Given the description of an element on the screen output the (x, y) to click on. 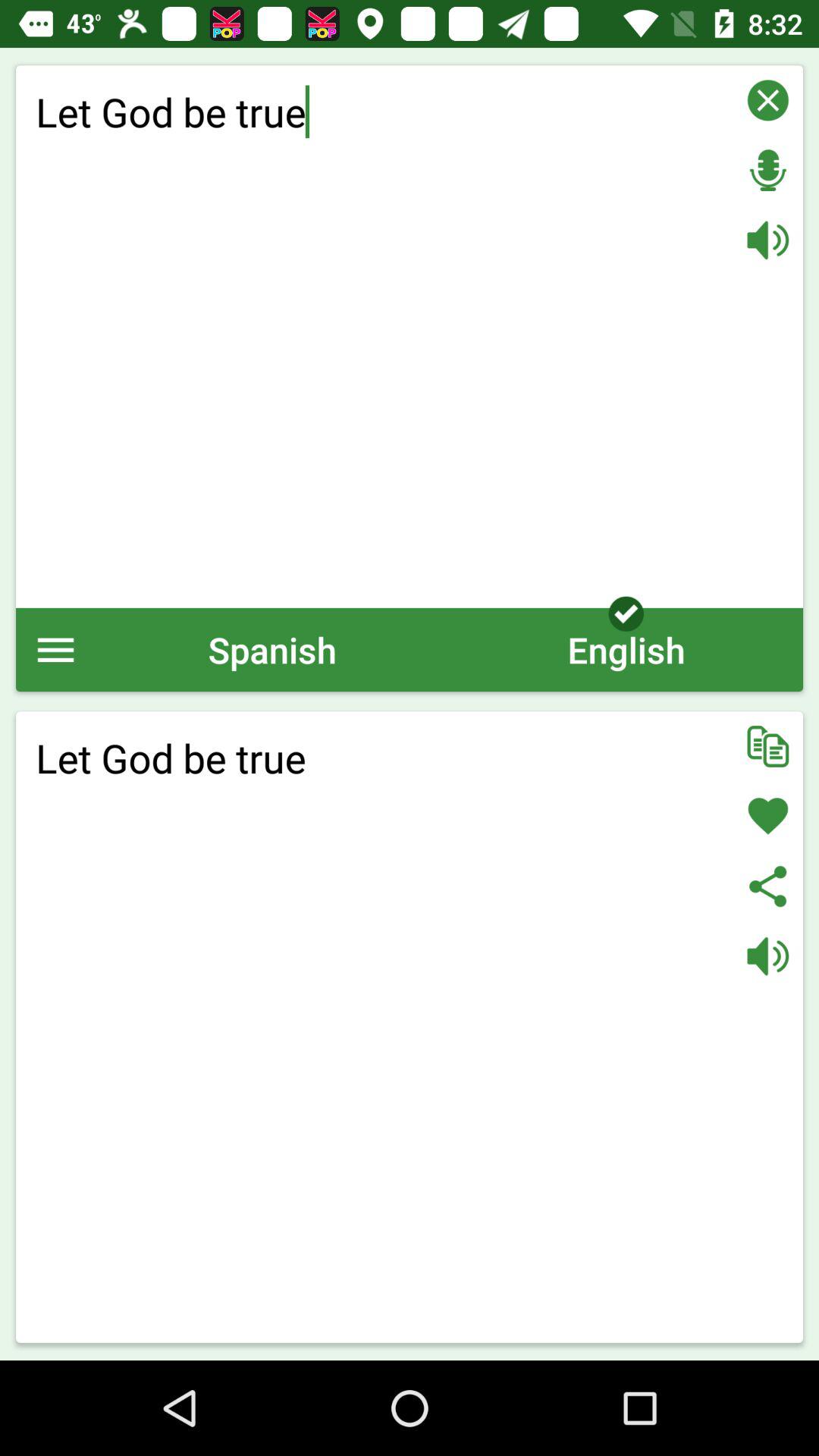
audio on (768, 956)
